Given the description of an element on the screen output the (x, y) to click on. 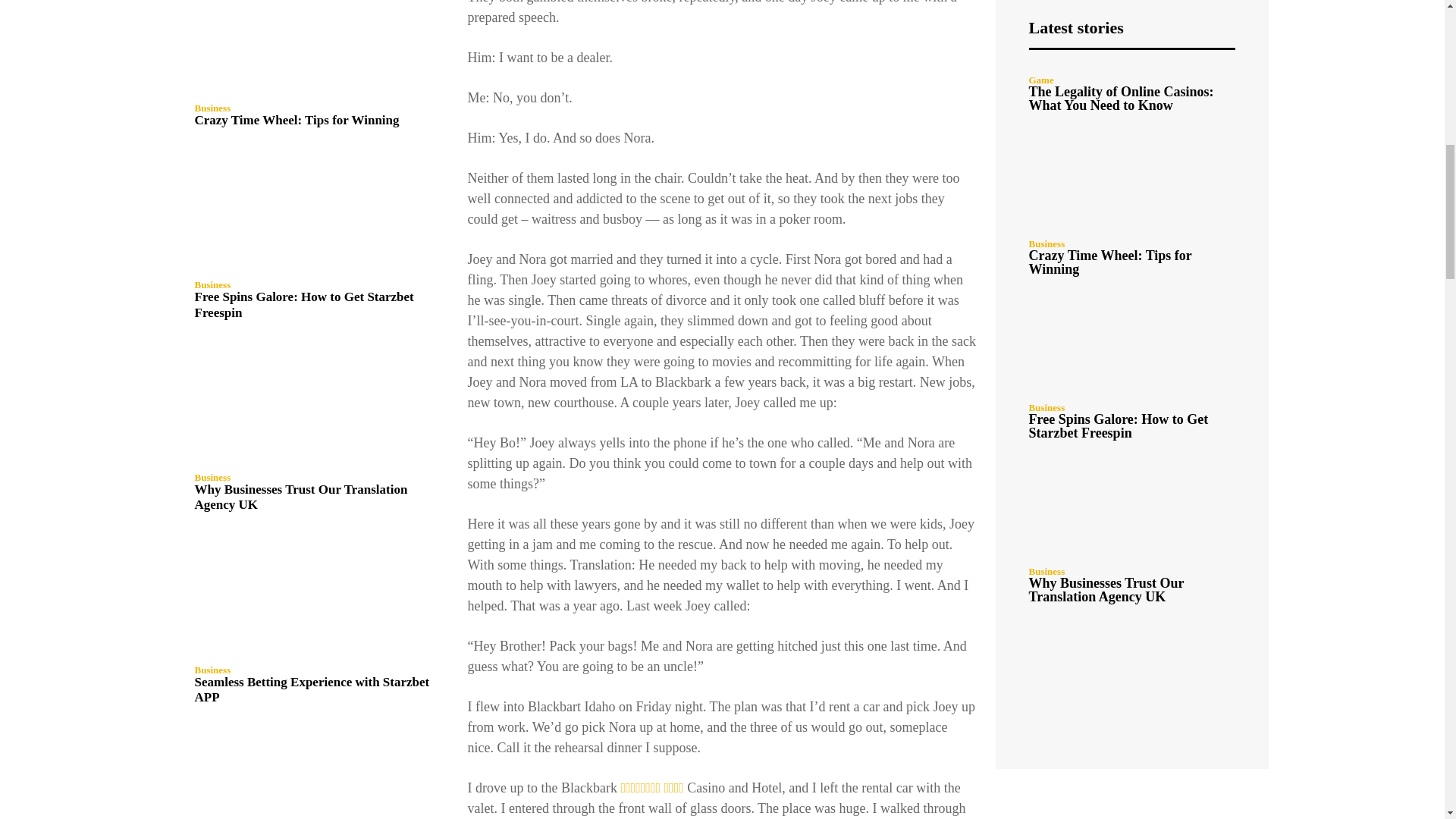
Crazy Time Wheel: Tips for Winning (295, 120)
Crazy Time Wheel: Tips for Winning (311, 46)
Free Spins Galore: How to Get Starzbet Freespin (311, 210)
